Given the description of an element on the screen output the (x, y) to click on. 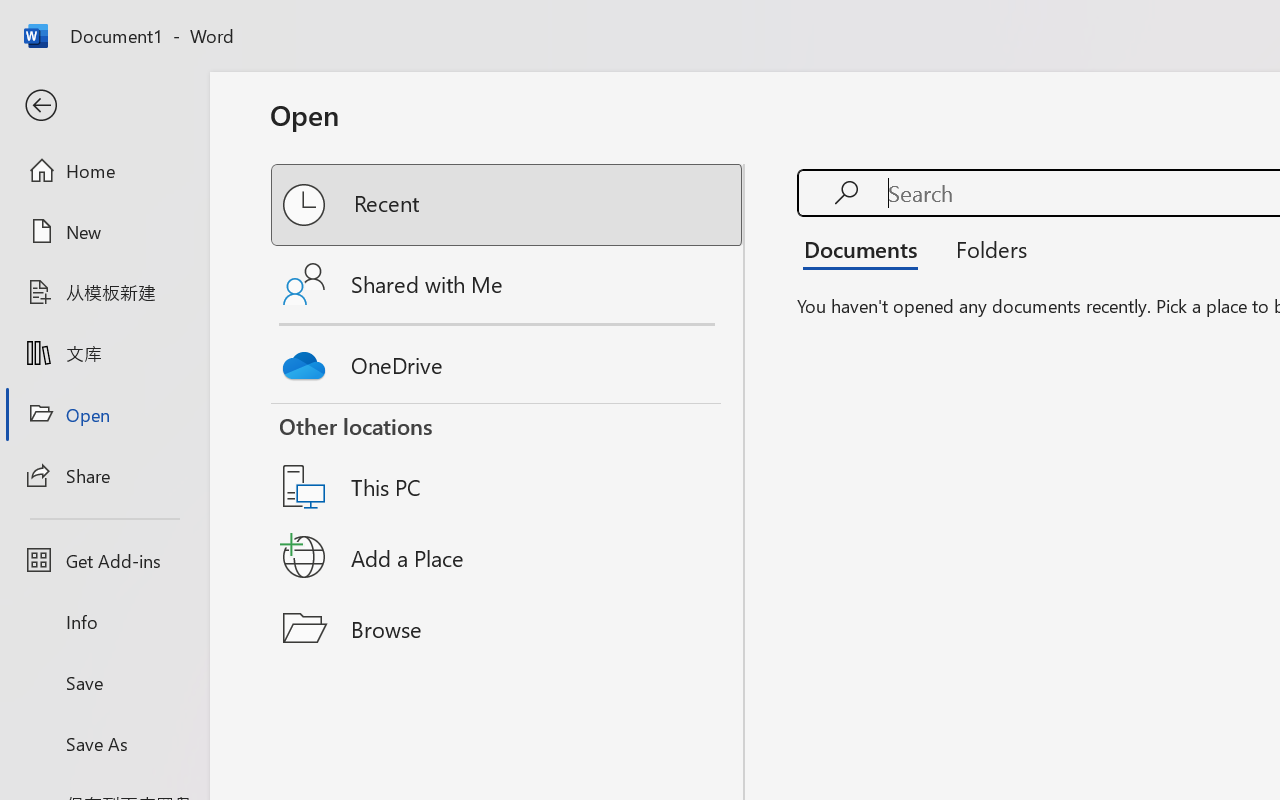
Back (104, 106)
This PC (507, 461)
Info (104, 621)
Shared with Me (507, 283)
Save As (104, 743)
Get Add-ins (104, 560)
Recent (507, 205)
Browse (507, 627)
Documents (866, 248)
